Given the description of an element on the screen output the (x, y) to click on. 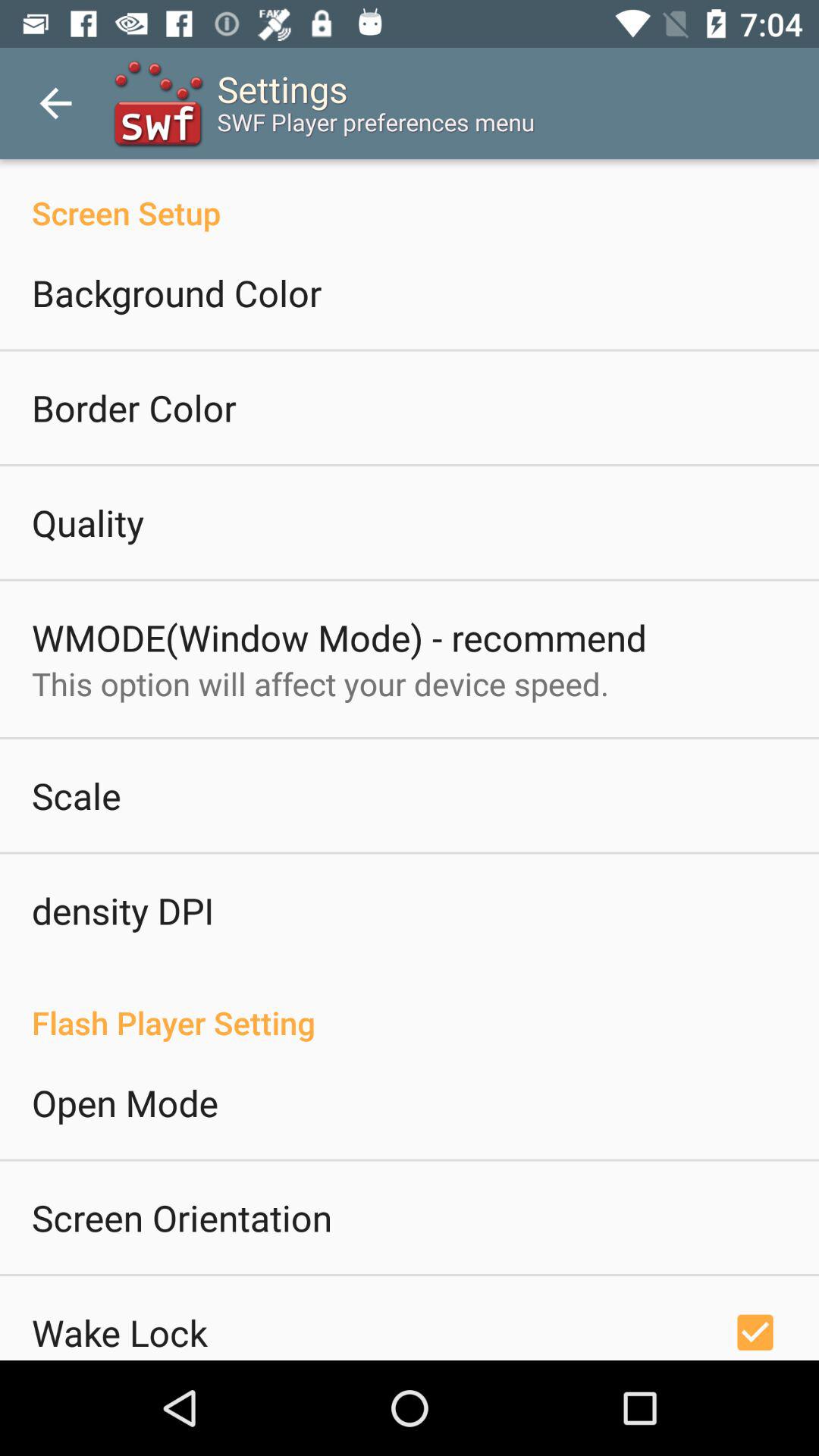
scroll until the scale icon (76, 795)
